Given the description of an element on the screen output the (x, y) to click on. 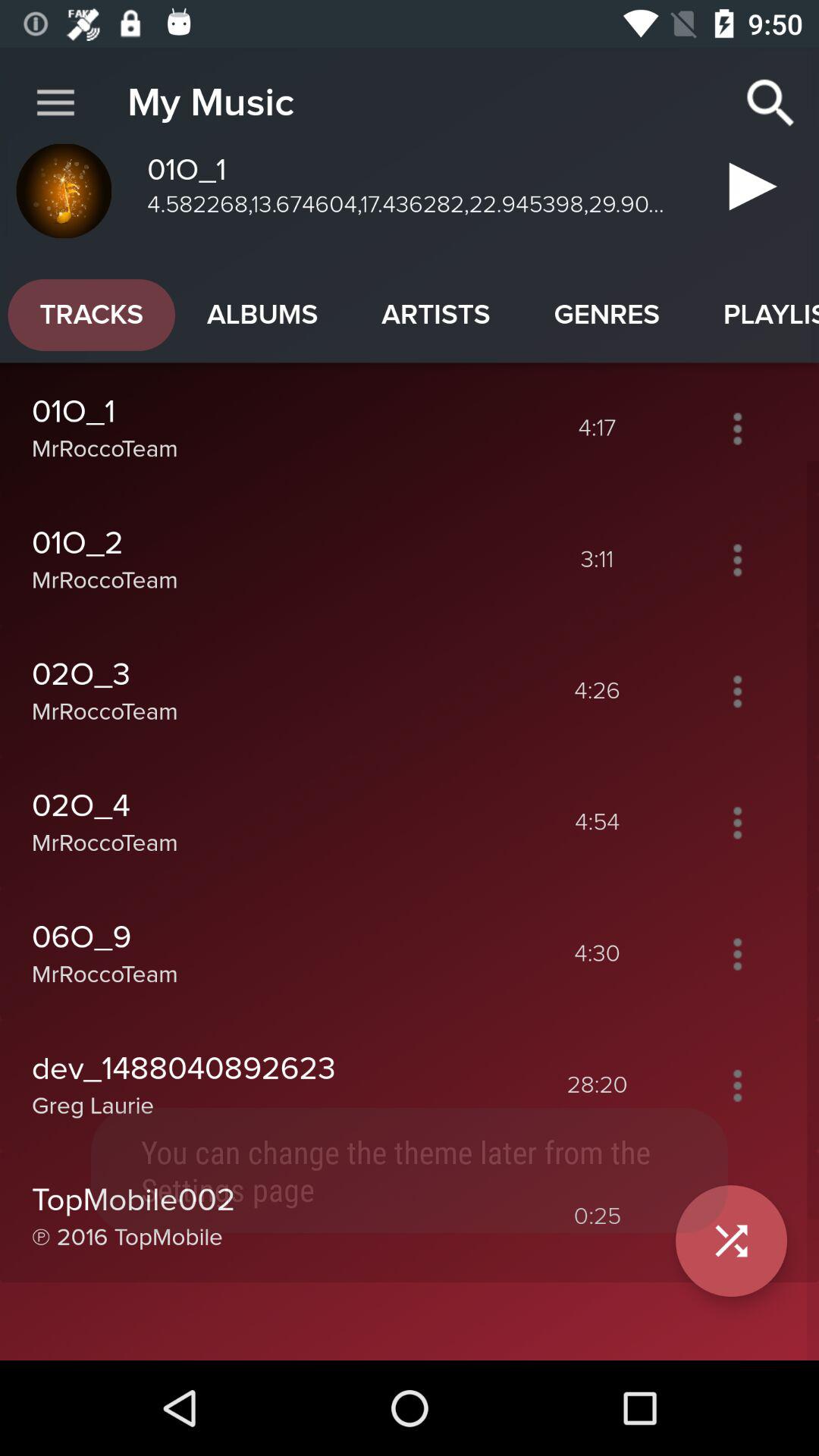
more options button (737, 1085)
